Given the description of an element on the screen output the (x, y) to click on. 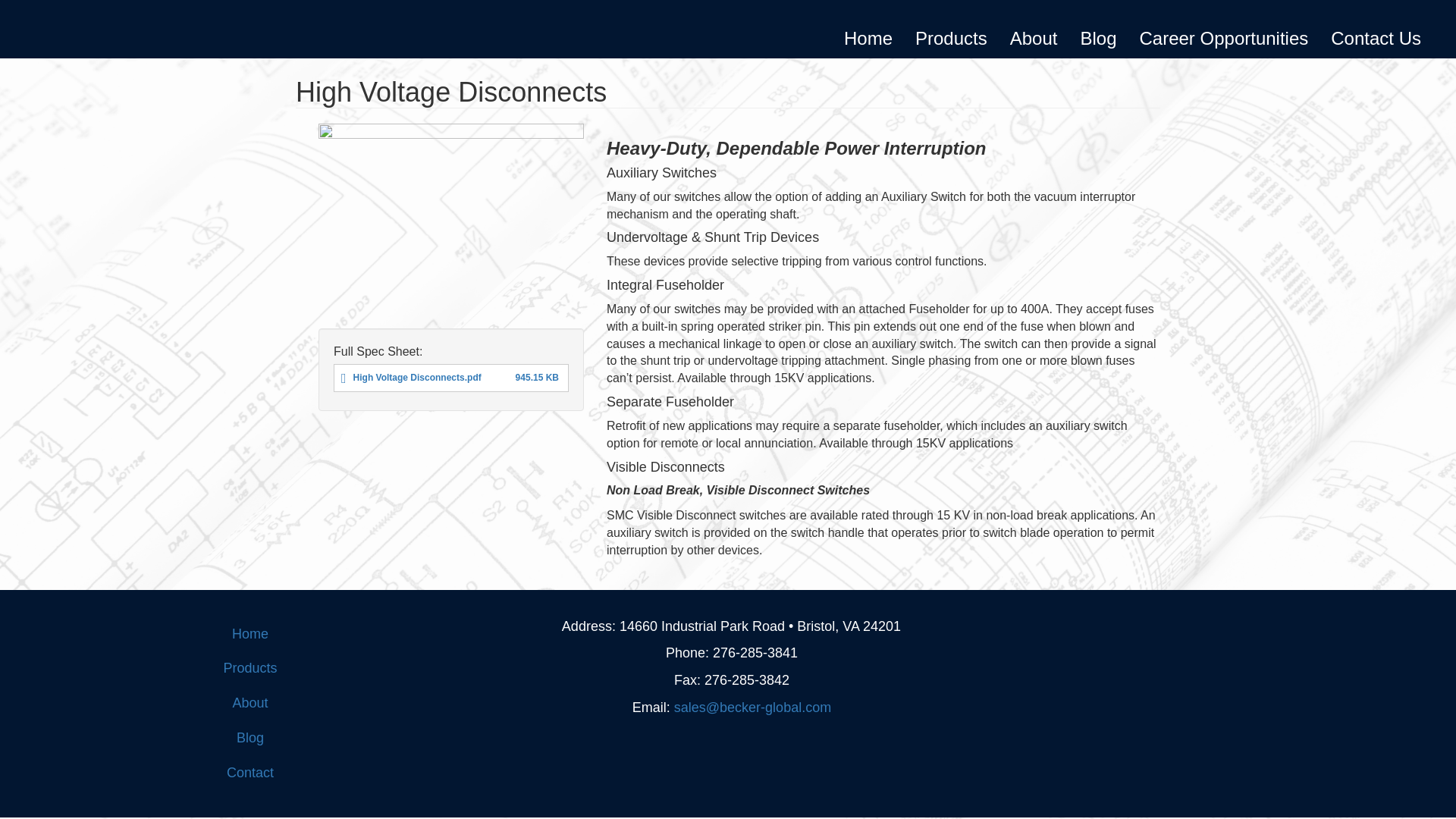
Contact Us (1375, 38)
Products (951, 38)
Current Job Openings (1224, 38)
Career Opportunities (1224, 38)
Products (250, 668)
Home (868, 38)
High Voltage Disconnects.pdf (417, 377)
Contact (250, 773)
Open file in new window (417, 377)
